Given the description of an element on the screen output the (x, y) to click on. 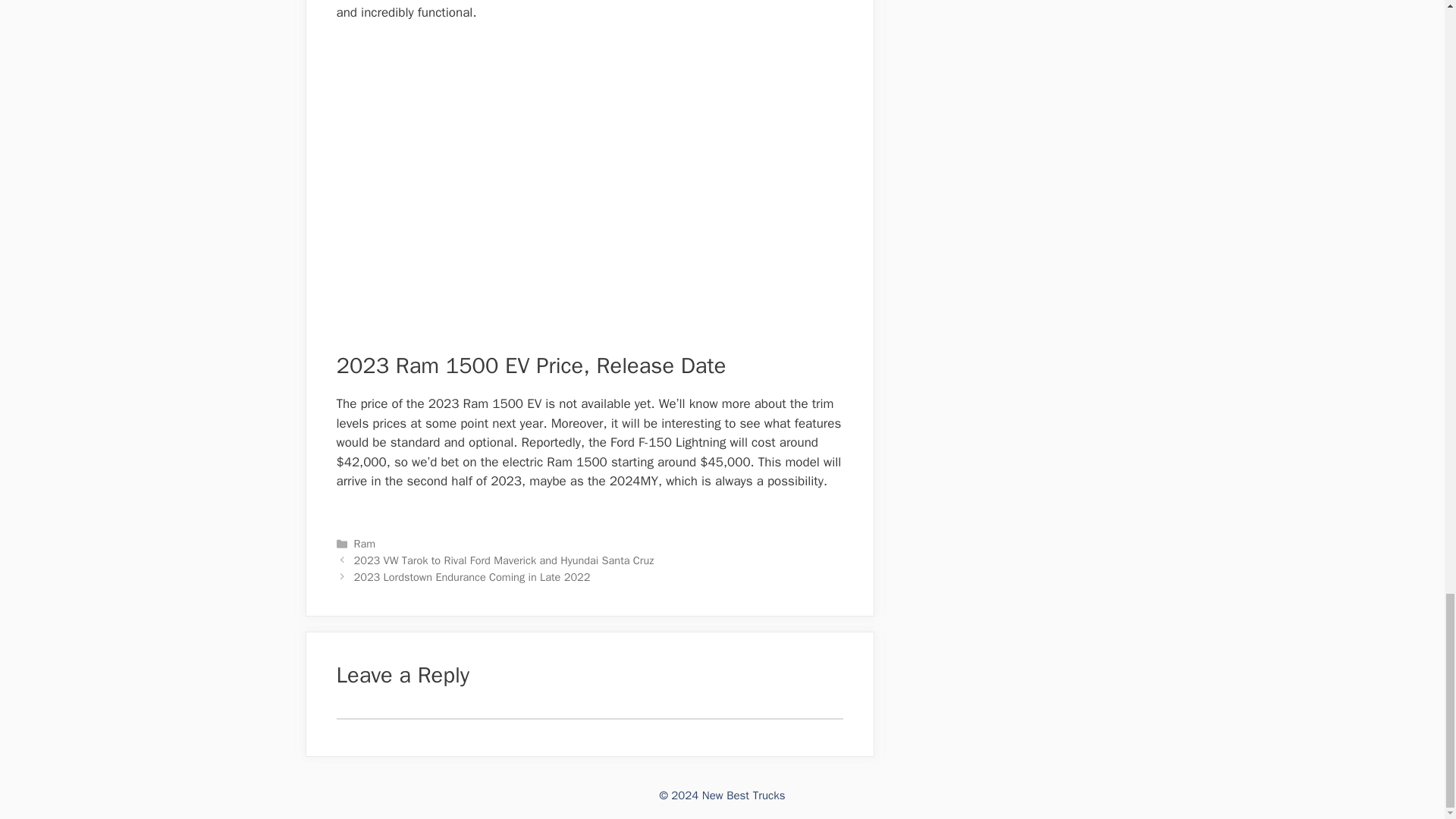
2023 VW Tarok to Rival Ford Maverick and Hyundai Santa Cruz (503, 560)
Ram (364, 543)
2023 Lordstown Endurance Coming in Late 2022 (472, 576)
